Given the description of an element on the screen output the (x, y) to click on. 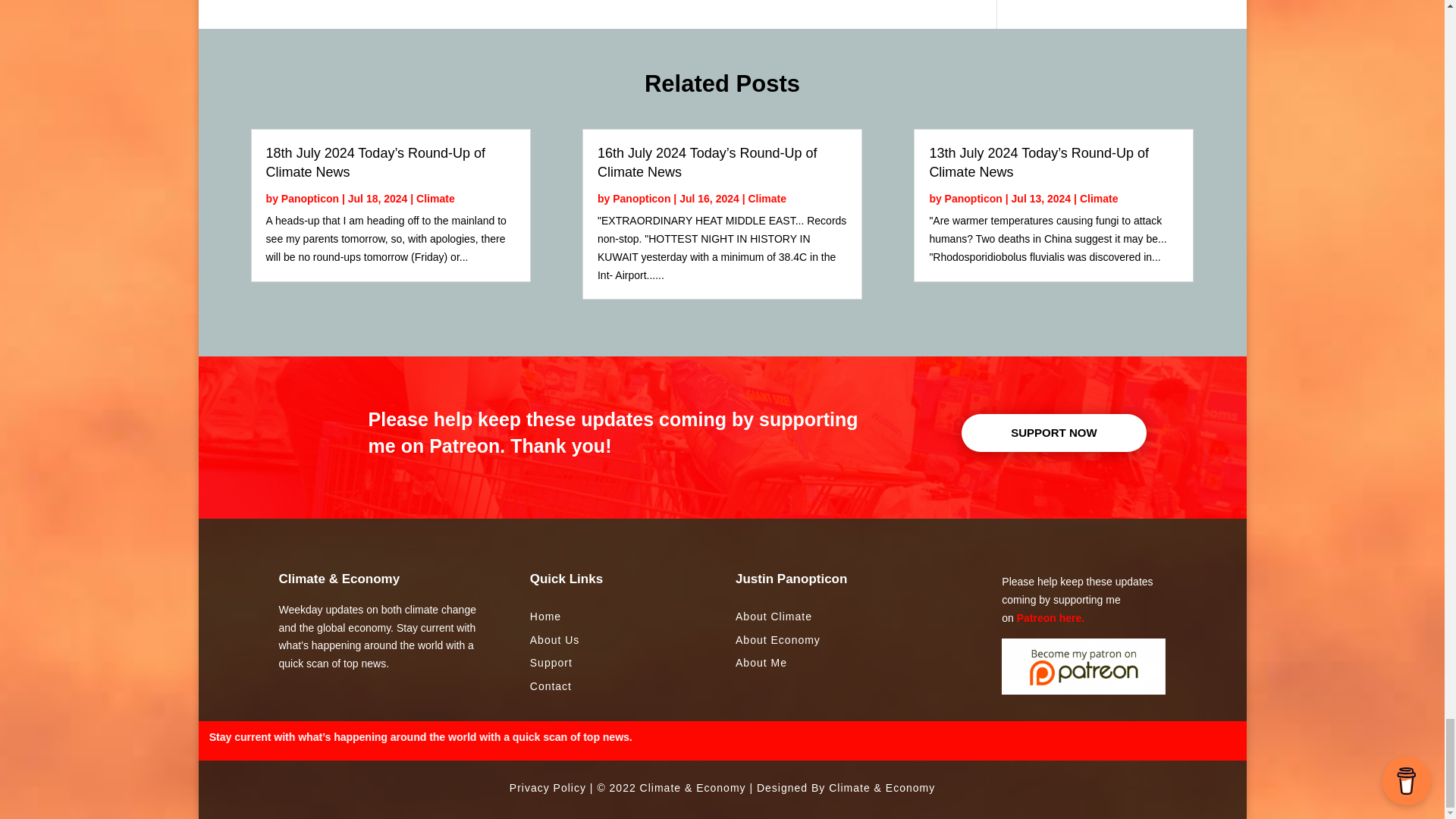
Posts by Panopticon (640, 197)
Posts by Panopticon (310, 197)
Posts by Panopticon (973, 197)
